Given the description of an element on the screen output the (x, y) to click on. 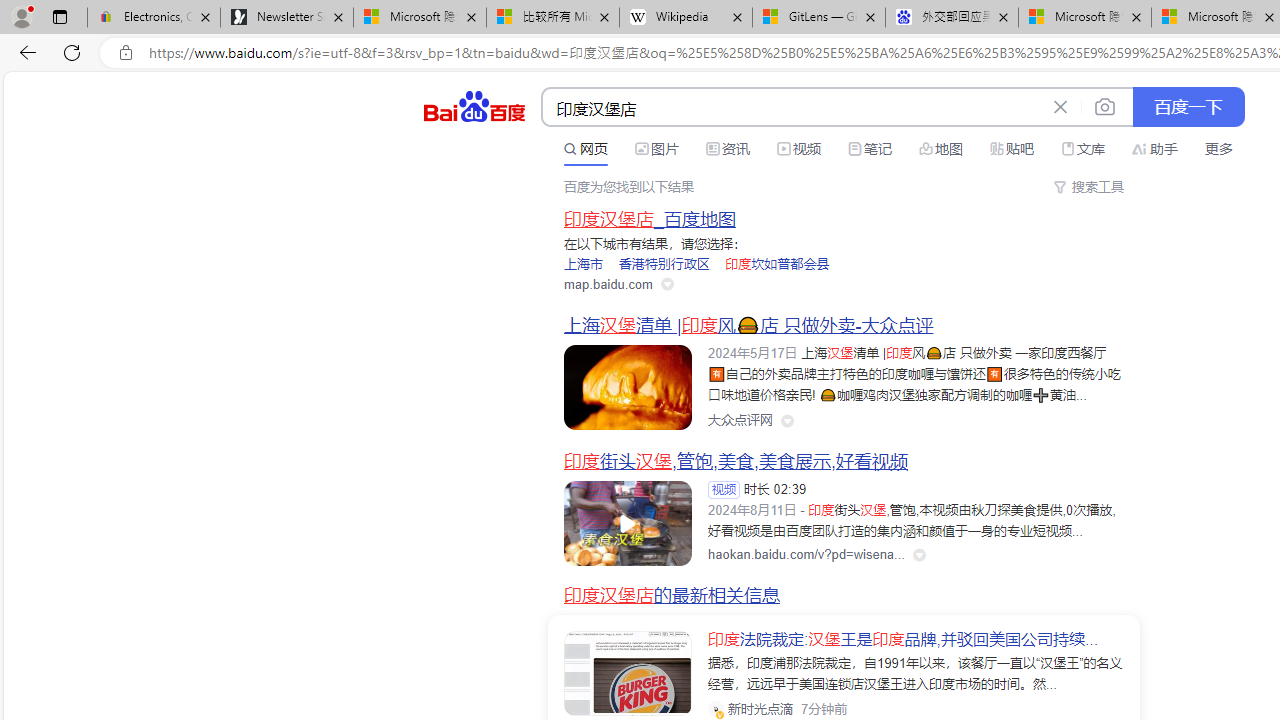
AutomationID: kw (793, 107)
